Given the description of an element on the screen output the (x, y) to click on. 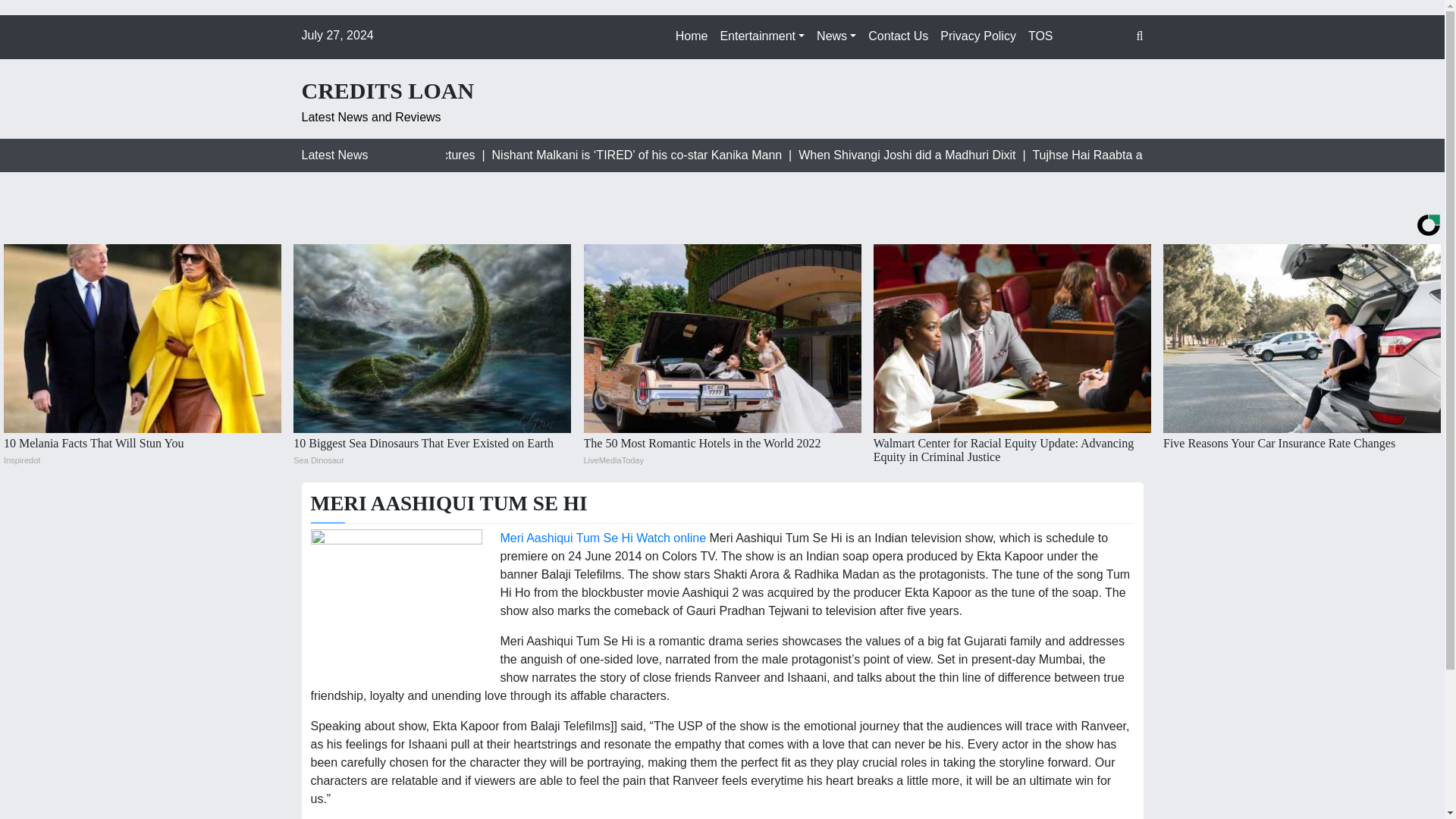
Contact Us (897, 36)
Home (691, 36)
Meri Aashiqui Tum Se Hi Watch online (603, 537)
Search (24, 13)
TOS (1040, 36)
Privacy Policy (978, 36)
Entertainment (761, 36)
CREDITS LOAN (387, 90)
News (835, 36)
